Given the description of an element on the screen output the (x, y) to click on. 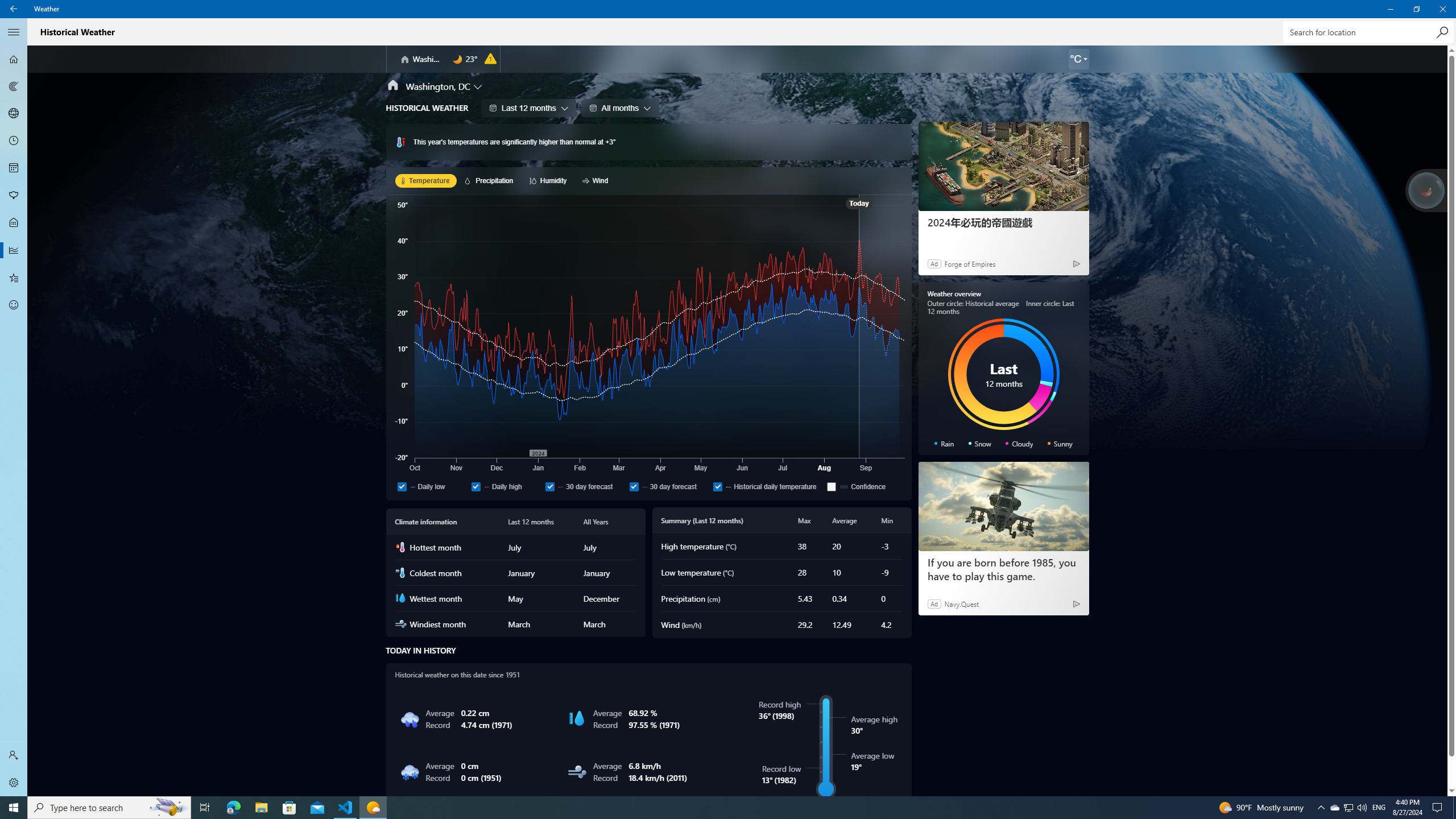
Hourly Forecast - Not Selected (13, 140)
Historical Weather - Not Selected (13, 249)
Microsoft Store (289, 807)
Favorites - Not Selected (13, 277)
Pollen - Not Selected (13, 195)
Weather - 1 running window (373, 807)
Close Weather (1442, 9)
Minimize Weather (1390, 9)
Start (13, 807)
Q2790: 100% (1361, 807)
Pollen - Not Selected (13, 195)
Collapse Navigation (13, 31)
Tray Input Indicator - English (United States) (1378, 807)
Visual Studio Code - 1 running window (345, 807)
